Given the description of an element on the screen output the (x, y) to click on. 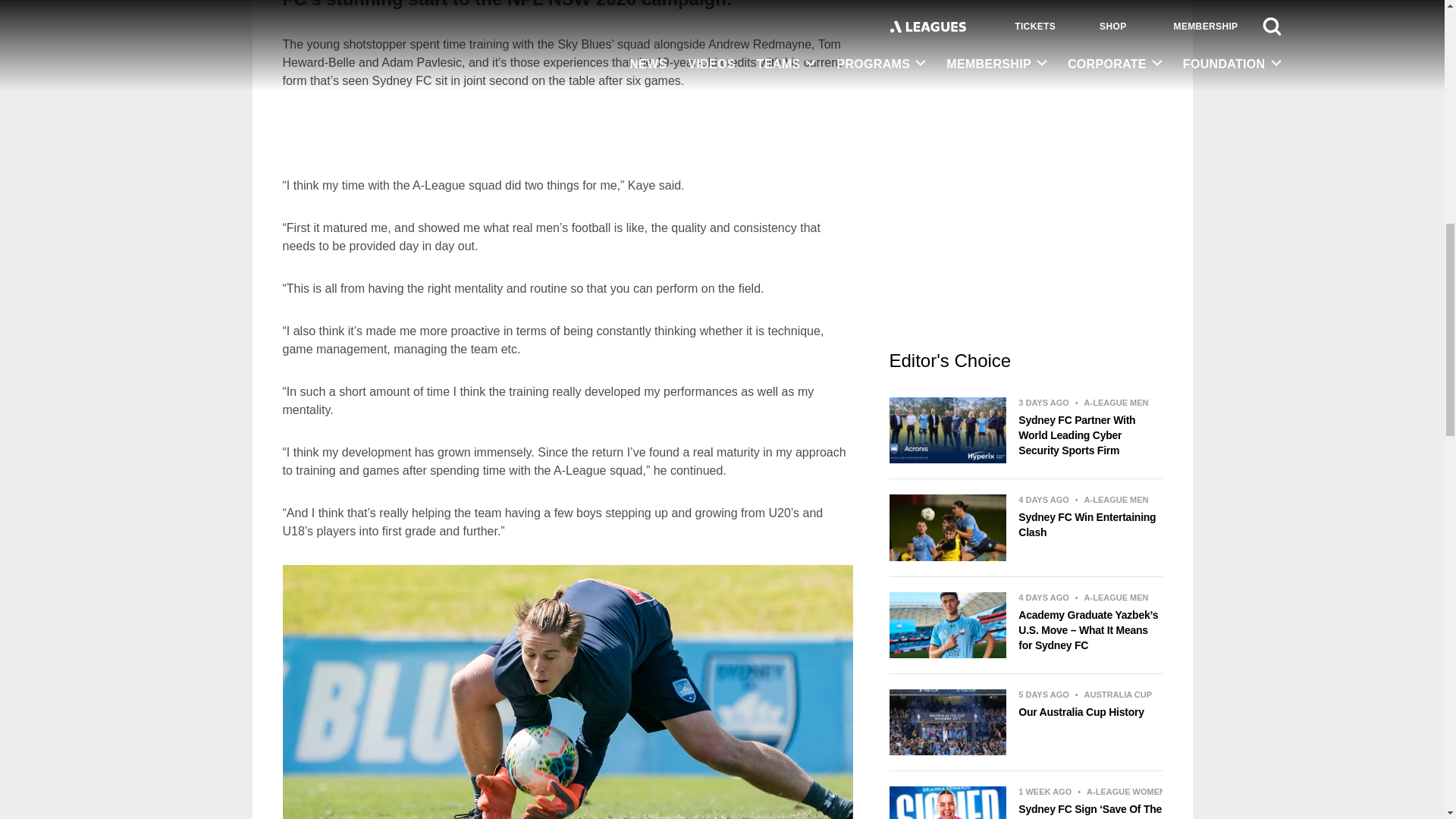
3rd party ad content (566, 133)
